Given the description of an element on the screen output the (x, y) to click on. 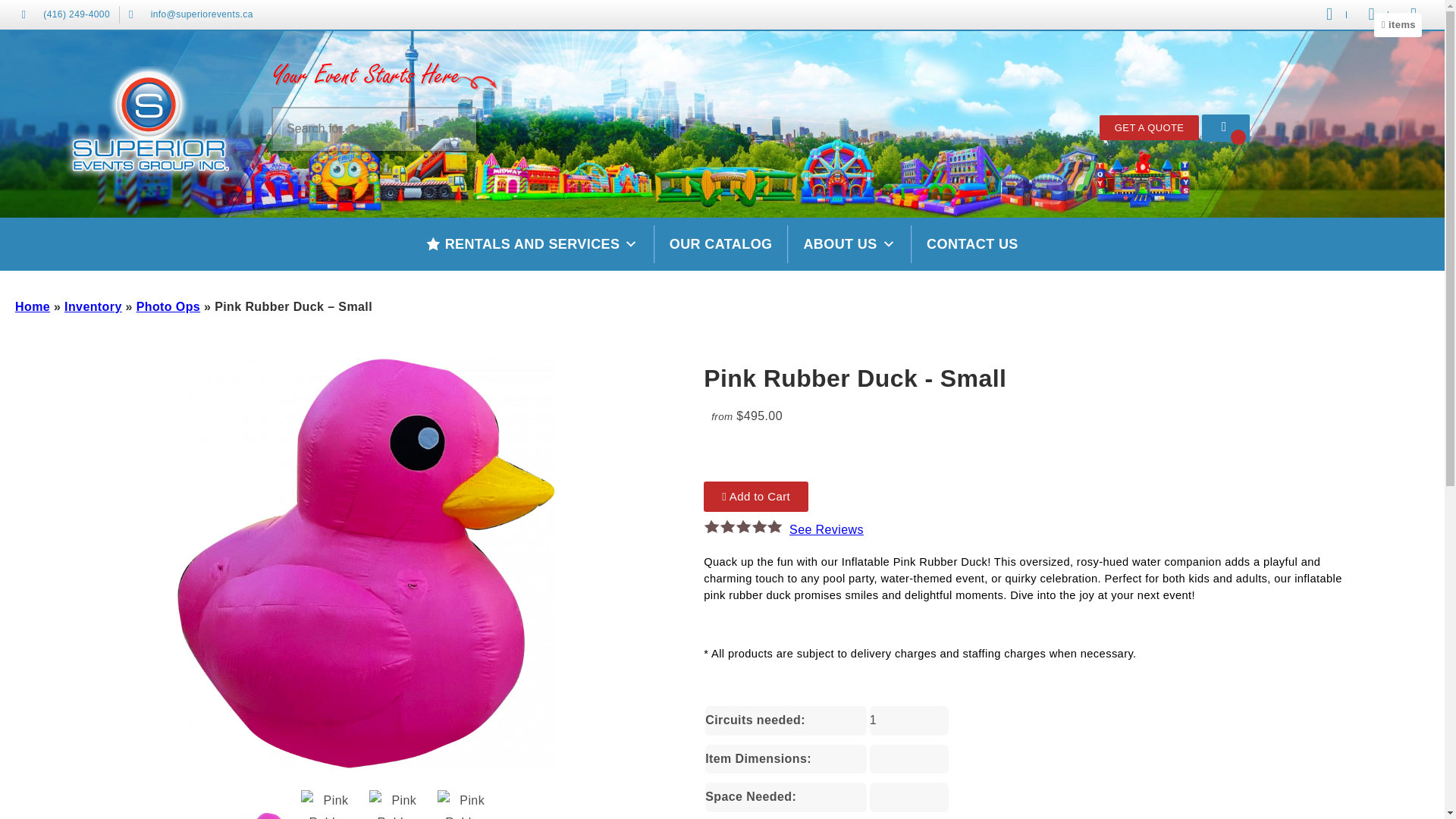
RENTALS AND SERVICES (531, 243)
Search (25, 9)
GET A QUOTE (1149, 127)
